Given the description of an element on the screen output the (x, y) to click on. 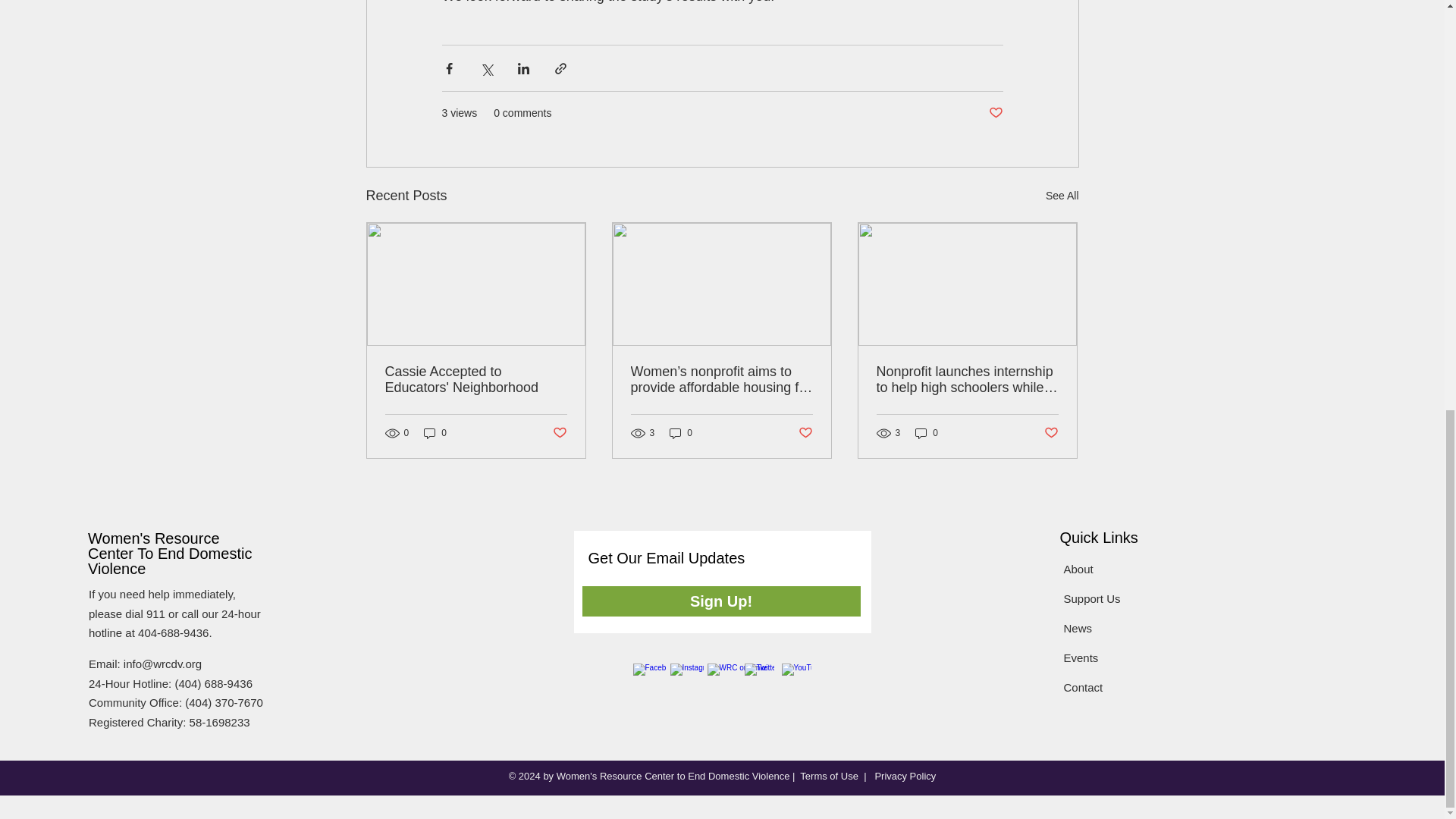
Post not marked as liked (995, 113)
Cassie Accepted to Educators' Neighborhood (476, 379)
0 (435, 432)
Post not marked as liked (558, 433)
See All (1061, 196)
